Given the description of an element on the screen output the (x, y) to click on. 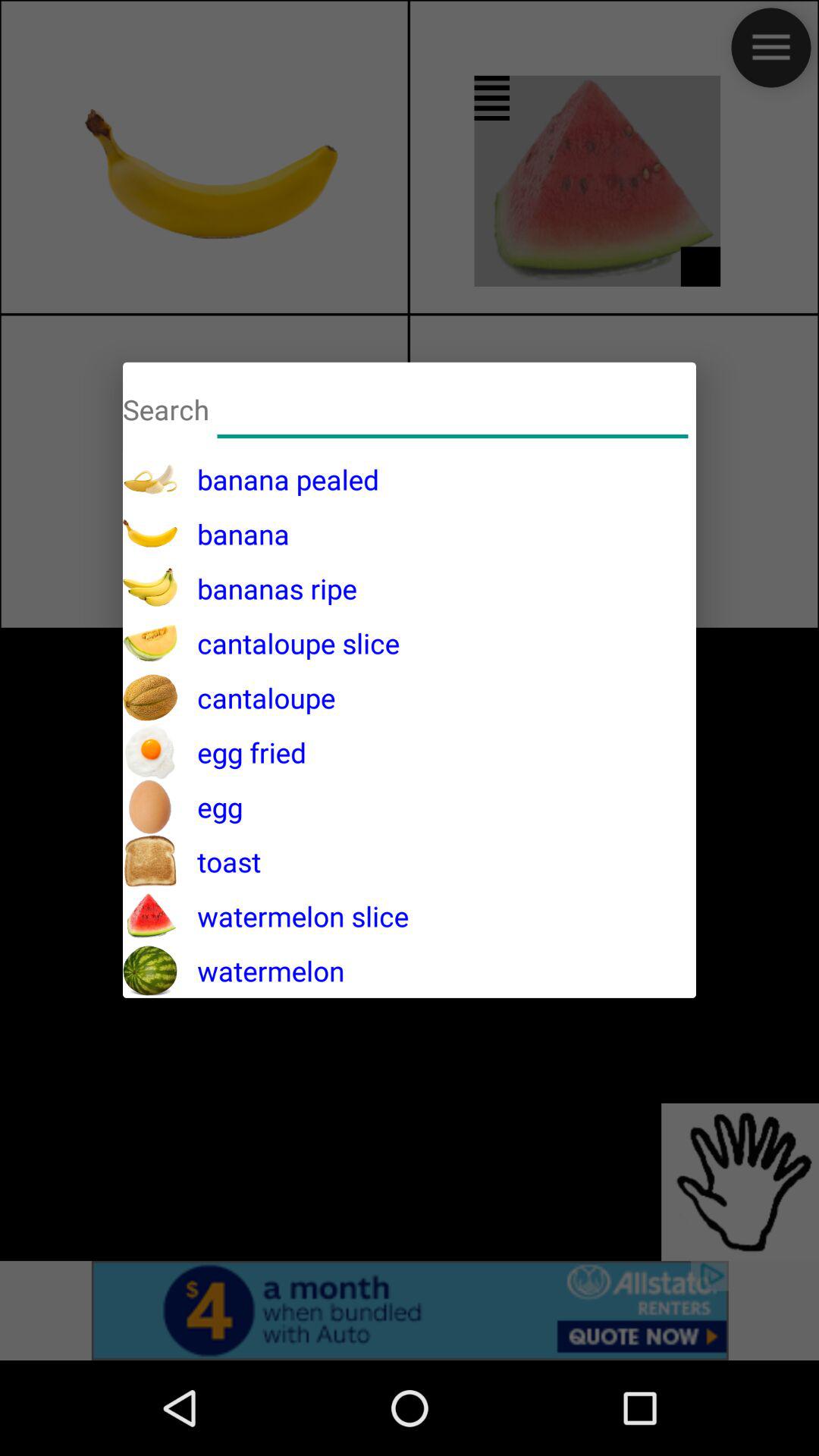
tap banana pealed icon (278, 479)
